Given the description of an element on the screen output the (x, y) to click on. 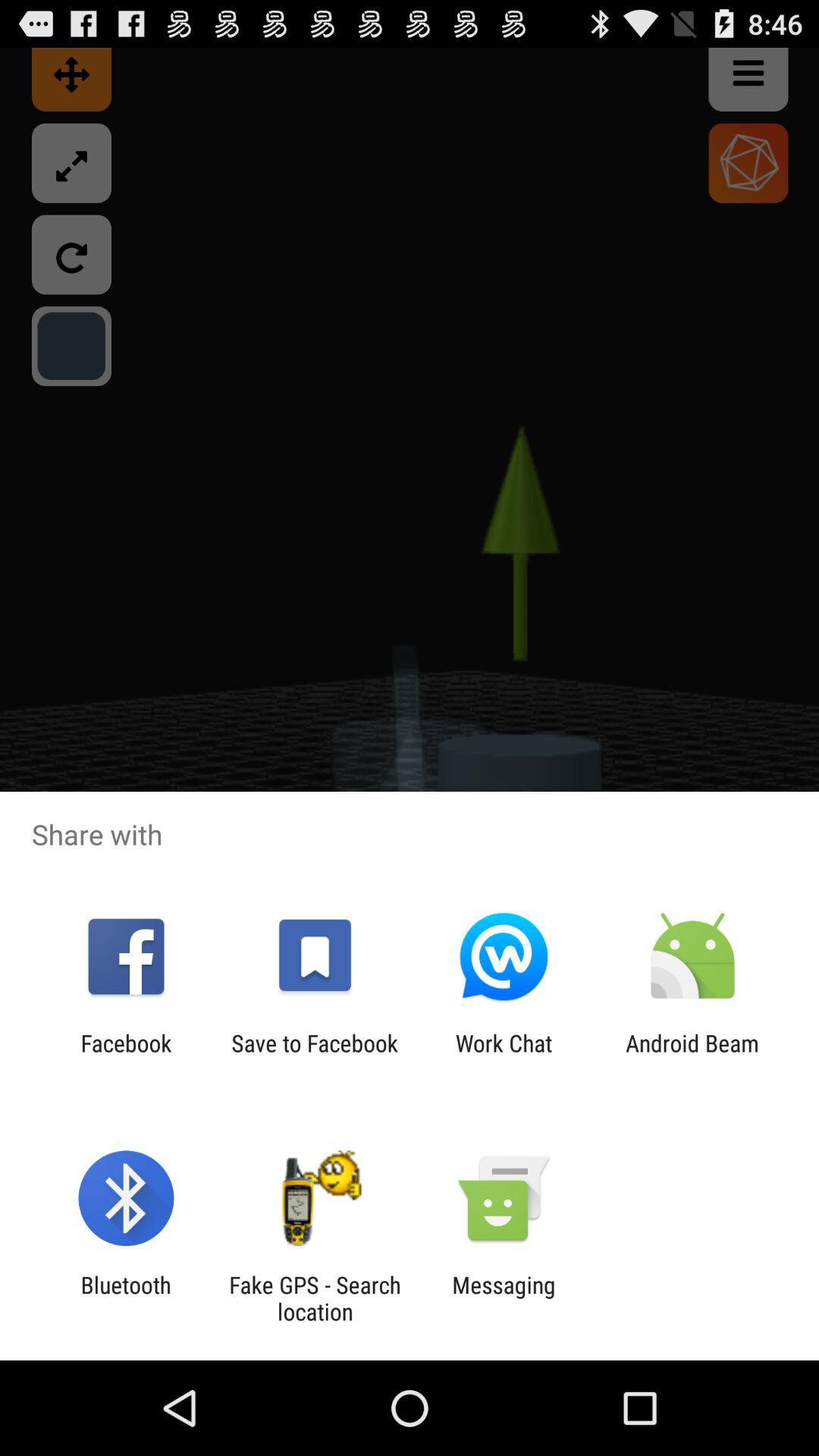
turn off the app to the left of fake gps search (125, 1298)
